Given the description of an element on the screen output the (x, y) to click on. 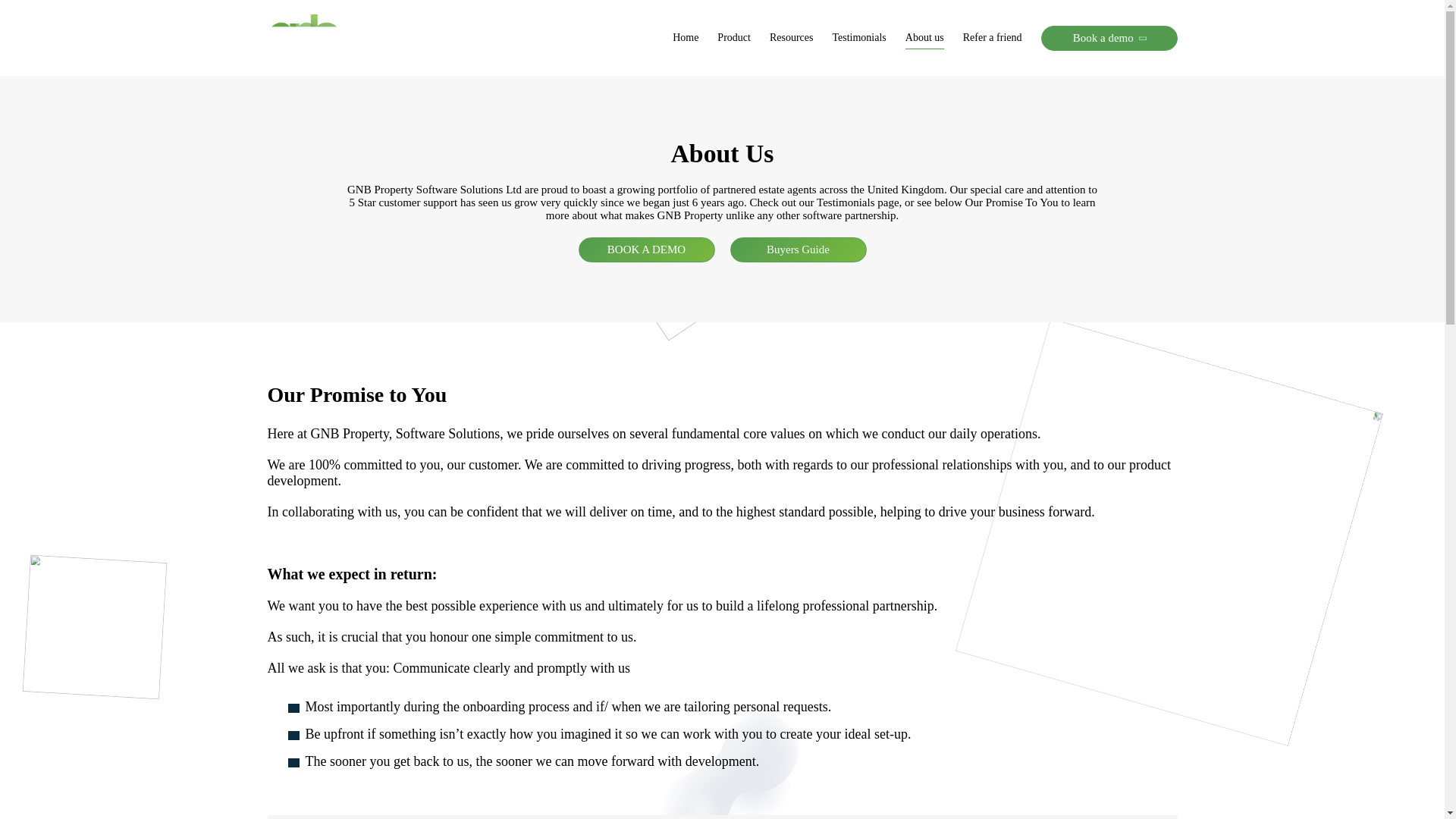
Book a demo (1108, 37)
BOOK A DEMO (646, 249)
Sales (90, 91)
Integrations (753, 91)
Apps (418, 91)
Blogs (824, 91)
Our Promise to you (864, 91)
Refer a friend (992, 38)
Virtual Viewings (528, 91)
Brochures (725, 91)
About us (924, 38)
Testimonials (858, 38)
Industry Updates (918, 91)
Buyers Guide (797, 249)
Home (685, 38)
